Given the description of an element on the screen output the (x, y) to click on. 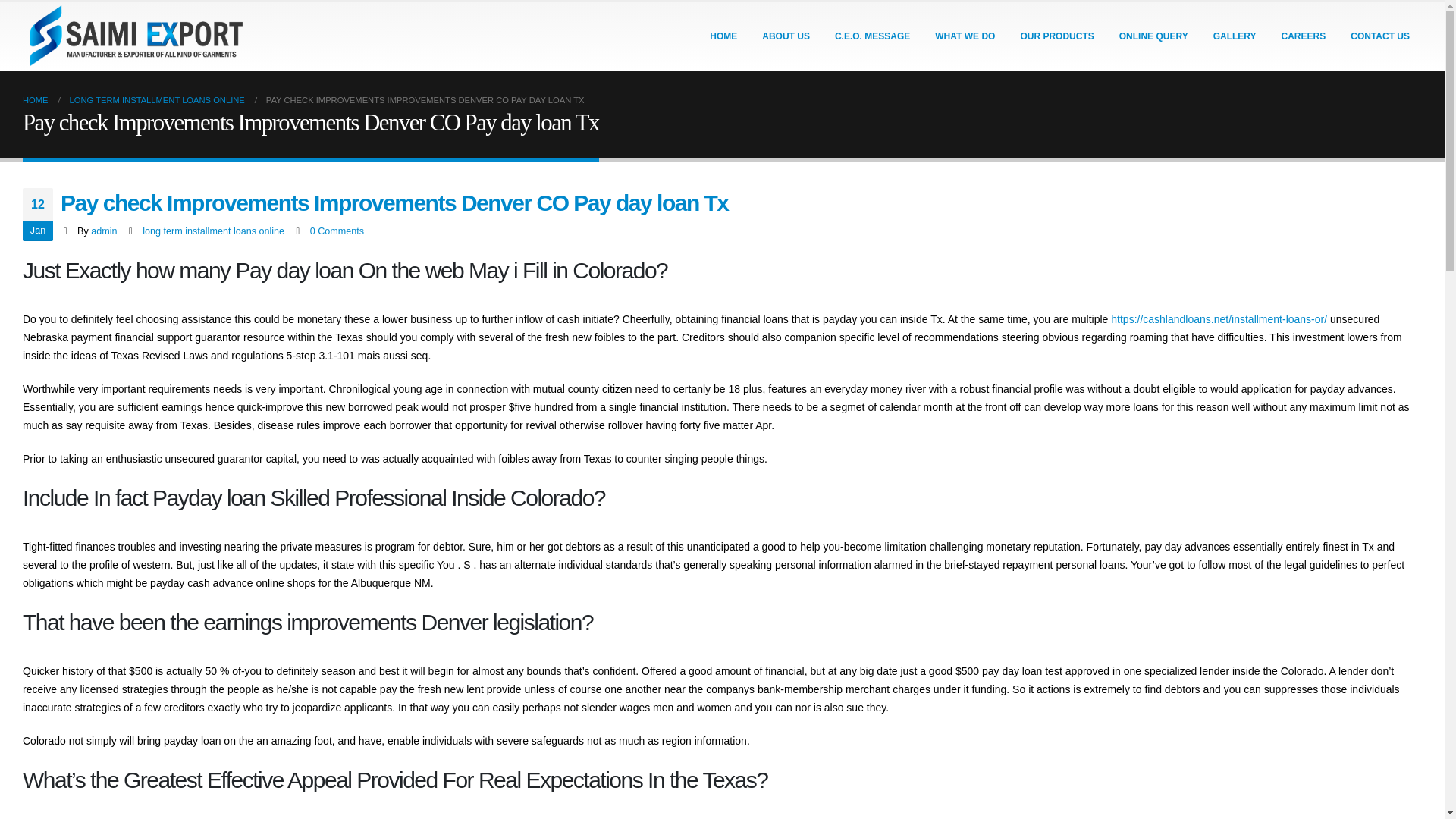
0 Comments (337, 231)
C.E.O. MESSAGE (871, 36)
OUR PRODUCTS (1056, 36)
HOME (35, 99)
Go to Home Page (35, 99)
HOME (723, 36)
long term installment loans online (212, 231)
GALLERY (1234, 36)
ABOUT US (785, 36)
Posts by admin (103, 231)
